Given the description of an element on the screen output the (x, y) to click on. 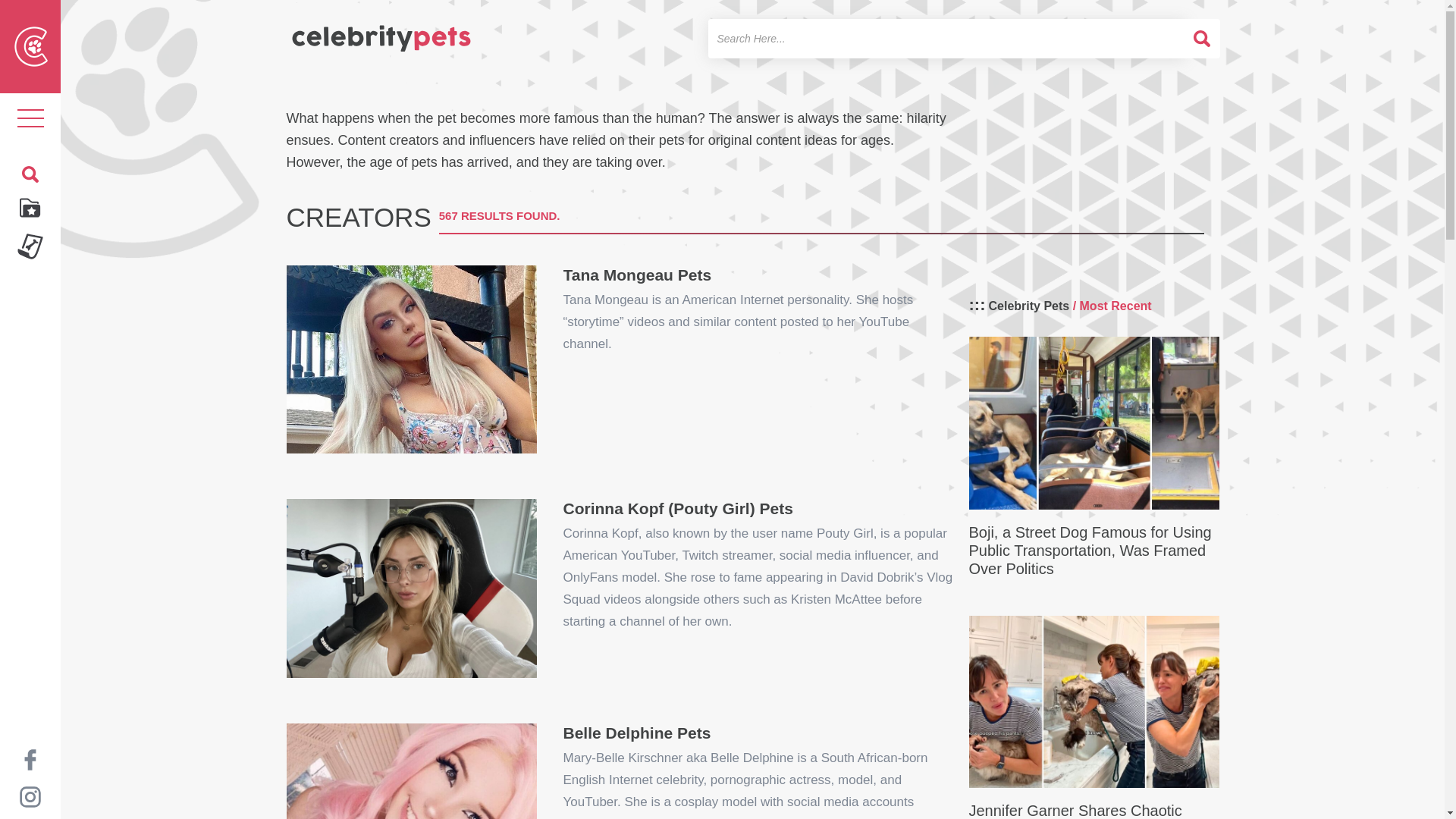
Tana Mongeau Pets (636, 266)
Celebrty Pets Icon (31, 45)
Celebrty Pets (381, 32)
Belle Delphine Pets (411, 771)
Celebrity Pets on Instagram (29, 795)
Search for (946, 38)
Tana Mongeau Pets (411, 359)
Toggle navigation (29, 117)
Belle Delphine Pets (636, 725)
Celebrity Pets on Facebook (29, 758)
